Given the description of an element on the screen output the (x, y) to click on. 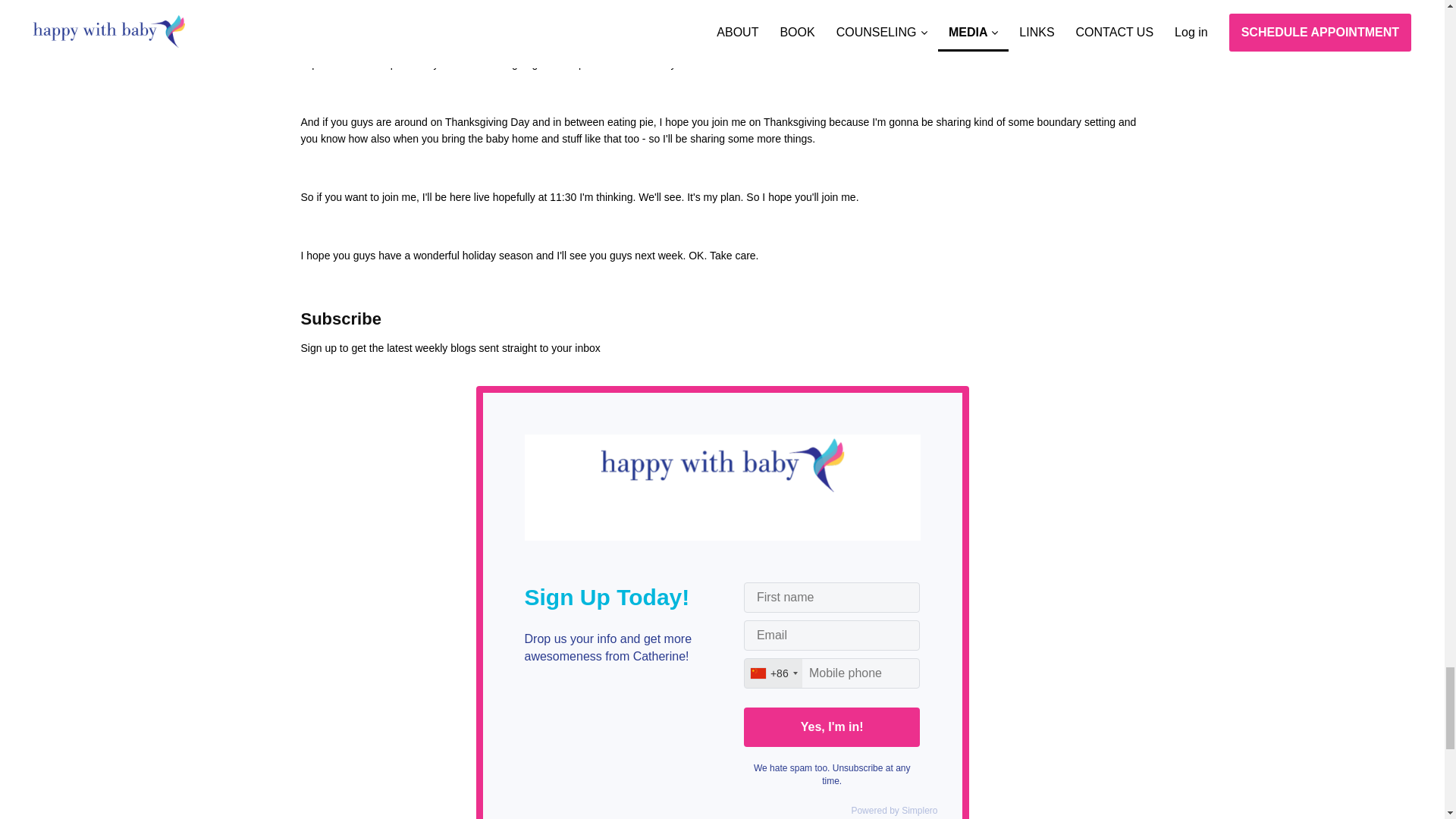
Yes, I'm in! (832, 726)
